Given the description of an element on the screen output the (x, y) to click on. 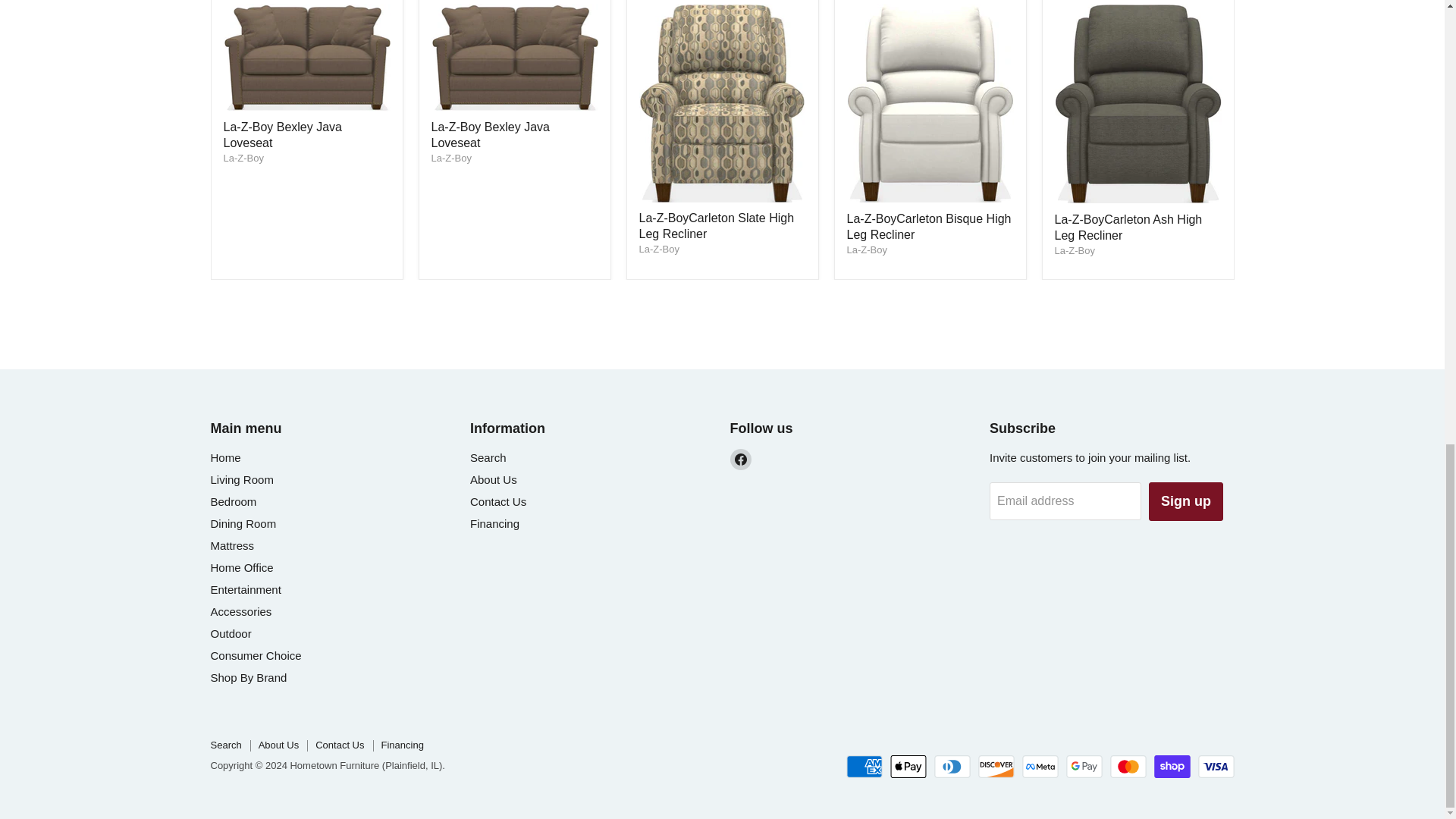
La-Z-Boy (658, 248)
La-Z-Boy (450, 157)
La-Z-Boy (242, 157)
Facebook (740, 459)
La-Z-Boy (1074, 250)
La-Z-Boy (865, 249)
American Express (863, 766)
